Given the description of an element on the screen output the (x, y) to click on. 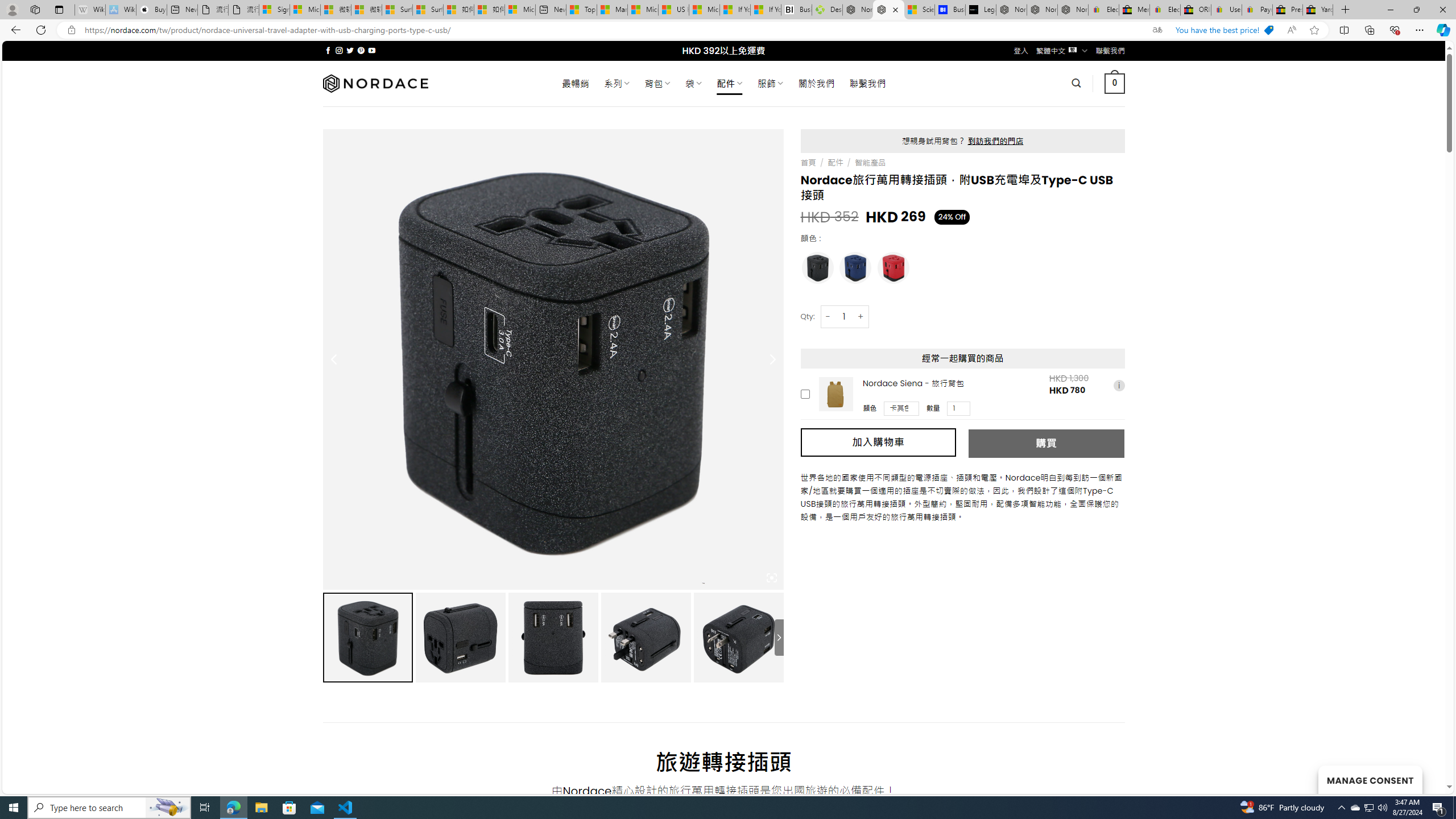
Class: iconic-woothumbs-fullscreen (771, 577)
User Privacy Notice | eBay (1226, 9)
Add this product to cart (804, 393)
US Heat Deaths Soared To Record High Last Year (673, 9)
Nordace - Summer Adventures 2024 (857, 9)
